Given the description of an element on the screen output the (x, y) to click on. 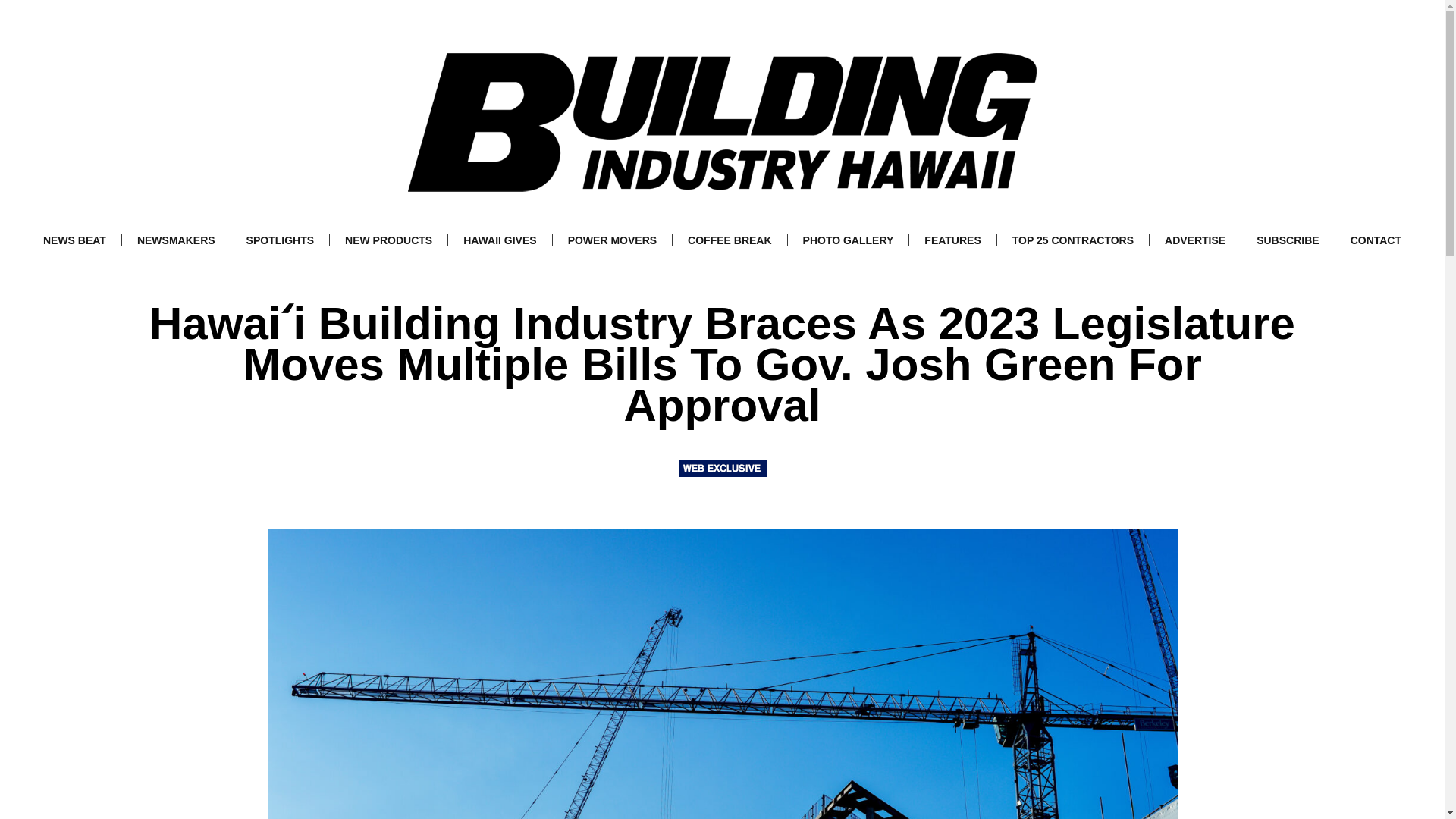
POWER MOVERS (612, 239)
TOP 25 CONTRACTORS (1072, 239)
CONTACT (1375, 239)
PHOTO GALLERY (847, 239)
FEATURES (951, 239)
ADVERTISE (1195, 239)
SPOTLIGHTS (280, 239)
NEWSMAKERS (176, 239)
COFFEE BREAK (729, 239)
NEW PRODUCTS (388, 239)
SUBSCRIBE (1287, 239)
HAWAII GIVES (499, 239)
NEWS BEAT (73, 239)
